Given the description of an element on the screen output the (x, y) to click on. 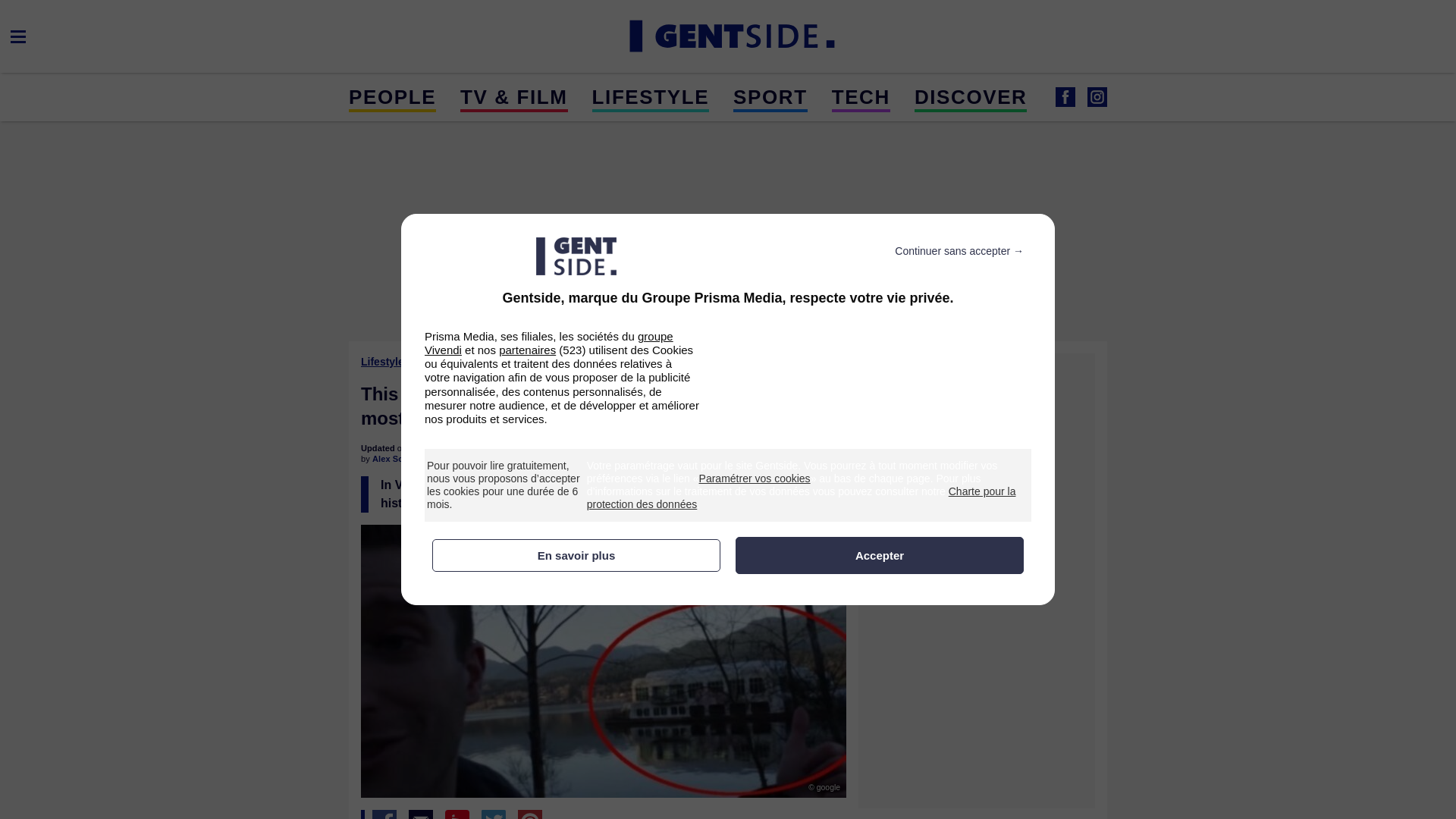
DISCOVER (970, 96)
Share on Mail (420, 814)
Pin it (529, 814)
Alex Schrute  (397, 458)
PEOPLE (392, 96)
Share on Facebook (384, 814)
Gentside Lifestyle (1065, 96)
TECH (860, 96)
Tweeter (493, 814)
Share on Flipboard (456, 814)
Gentside UK (1096, 96)
Lifestyle (384, 361)
LIFESTYLE (651, 96)
SPORT (770, 96)
Alex Schrute (397, 458)
